Given the description of an element on the screen output the (x, y) to click on. 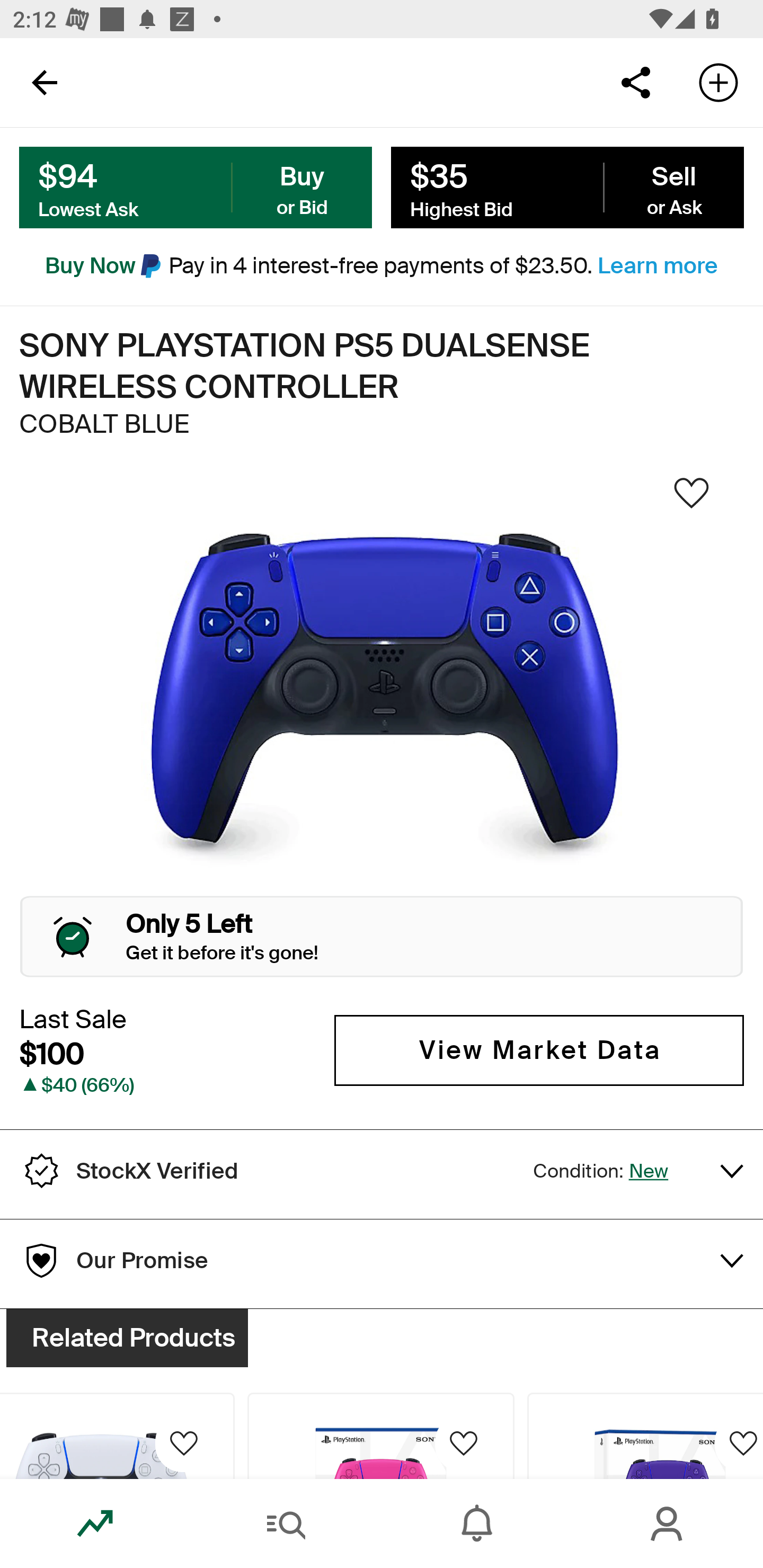
Share (635, 81)
Add (718, 81)
$233 Buy Lowest Ask or Bid (195, 187)
$219 Sell Highest Bid or Ask (566, 187)
Sneaker Image (381, 698)
View Market Data (538, 1050)
Search (285, 1523)
Inbox (476, 1523)
Account (667, 1523)
